Given the description of an element on the screen output the (x, y) to click on. 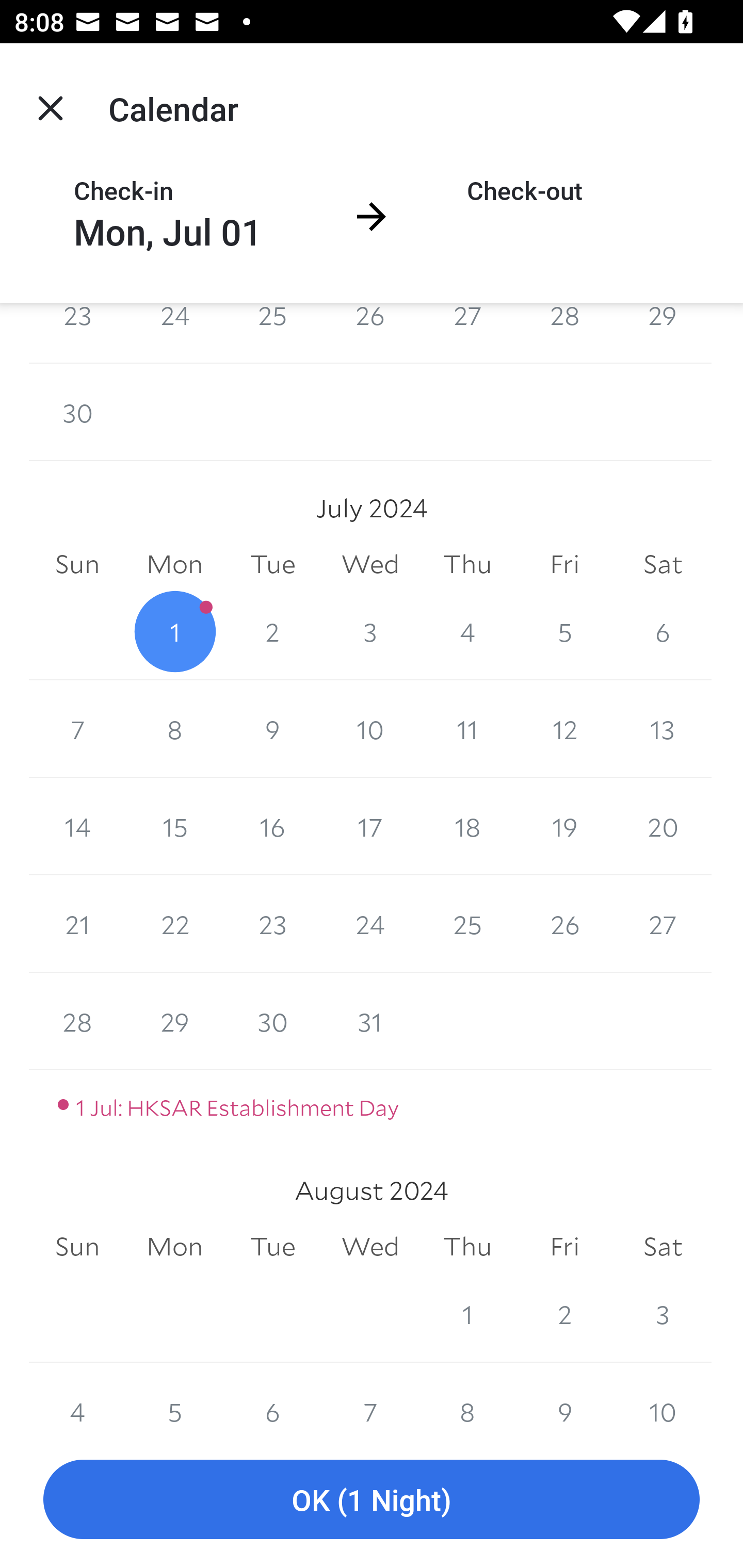
23 23 June 2024 (77, 332)
24 24 June 2024 (174, 332)
25 25 June 2024 (272, 332)
26 26 June 2024 (370, 332)
27 27 June 2024 (467, 332)
28 28 June 2024 (564, 332)
29 29 June 2024 (662, 332)
30 30 June 2024 (77, 411)
Sun (77, 564)
Mon (174, 564)
Tue (272, 564)
Wed (370, 564)
Thu (467, 564)
Fri (564, 564)
Sat (662, 564)
1 1 July 2024 (174, 631)
2 2 July 2024 (272, 631)
3 3 July 2024 (370, 631)
4 4 July 2024 (467, 631)
5 5 July 2024 (564, 631)
6 6 July 2024 (662, 631)
7 7 July 2024 (77, 728)
8 8 July 2024 (174, 728)
9 9 July 2024 (272, 728)
10 10 July 2024 (370, 728)
11 11 July 2024 (467, 728)
12 12 July 2024 (564, 728)
13 13 July 2024 (662, 728)
14 14 July 2024 (77, 825)
15 15 July 2024 (174, 825)
16 16 July 2024 (272, 825)
17 17 July 2024 (370, 825)
18 18 July 2024 (467, 825)
19 19 July 2024 (564, 825)
20 20 July 2024 (662, 825)
21 21 July 2024 (77, 923)
22 22 July 2024 (174, 923)
23 23 July 2024 (272, 923)
24 24 July 2024 (370, 923)
25 25 July 2024 (467, 923)
26 26 July 2024 (564, 923)
27 27 July 2024 (662, 923)
28 28 July 2024 (77, 1021)
29 29 July 2024 (174, 1021)
30 30 July 2024 (272, 1021)
31 31 July 2024 (370, 1021)
Sun (77, 1246)
Mon (174, 1246)
Tue (272, 1246)
Wed (370, 1246)
Thu (467, 1246)
Fri (564, 1246)
Sat (662, 1246)
1 1 August 2024 (467, 1313)
2 2 August 2024 (564, 1313)
3 3 August 2024 (662, 1313)
4 4 August 2024 (77, 1396)
5 5 August 2024 (174, 1396)
6 6 August 2024 (272, 1396)
7 7 August 2024 (370, 1396)
8 8 August 2024 (467, 1396)
9 9 August 2024 (564, 1396)
10 10 August 2024 (662, 1396)
OK (1 Night) (371, 1499)
